Given the description of an element on the screen output the (x, y) to click on. 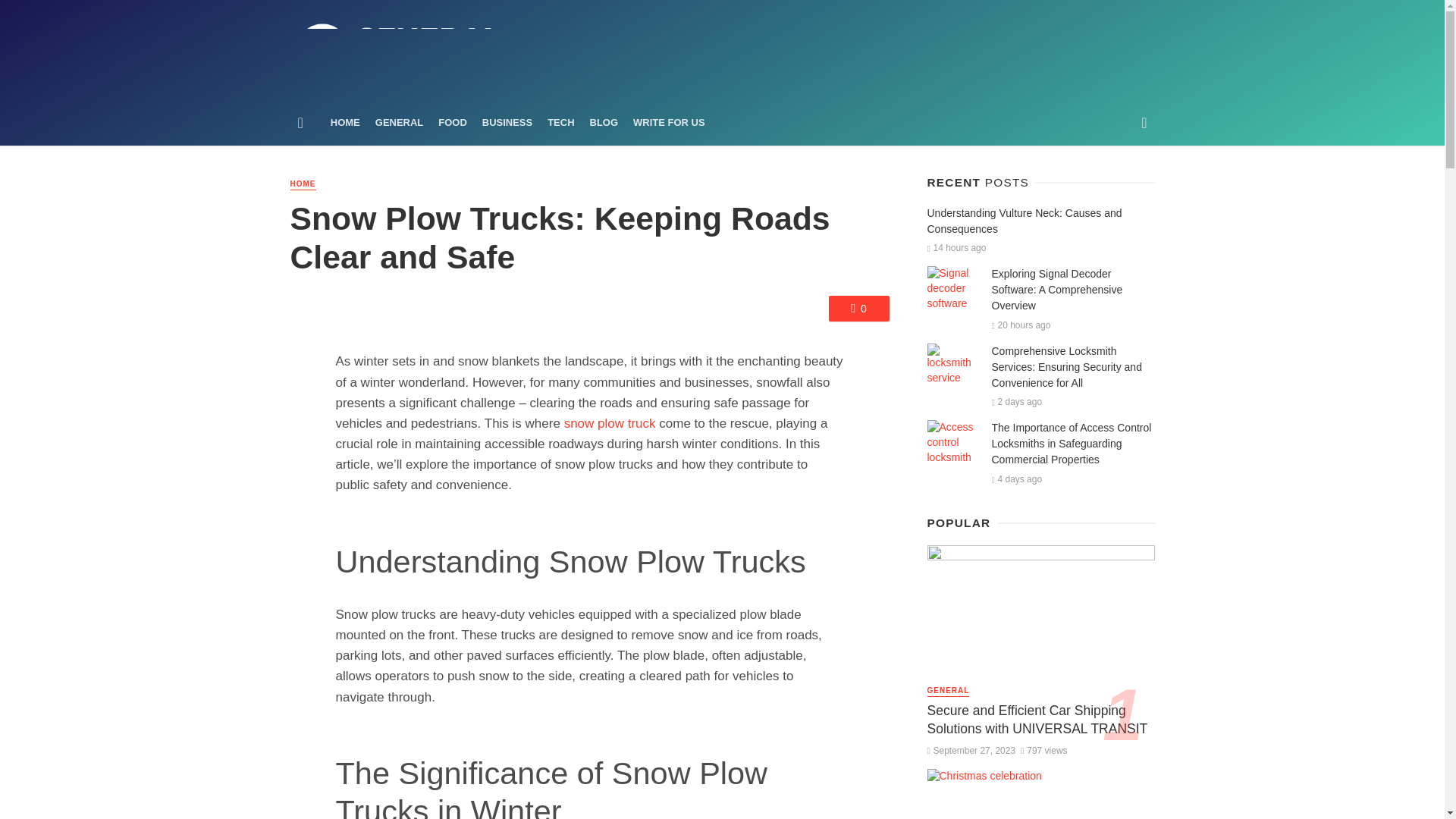
snow plow truck (610, 423)
0 (858, 308)
TECH (560, 122)
HOME (345, 122)
BLOG (604, 122)
FOOD (452, 122)
0 Comments (858, 308)
GENERAL (399, 122)
BUSINESS (507, 122)
WRITE FOR US (669, 122)
HOME (302, 184)
